Given the description of an element on the screen output the (x, y) to click on. 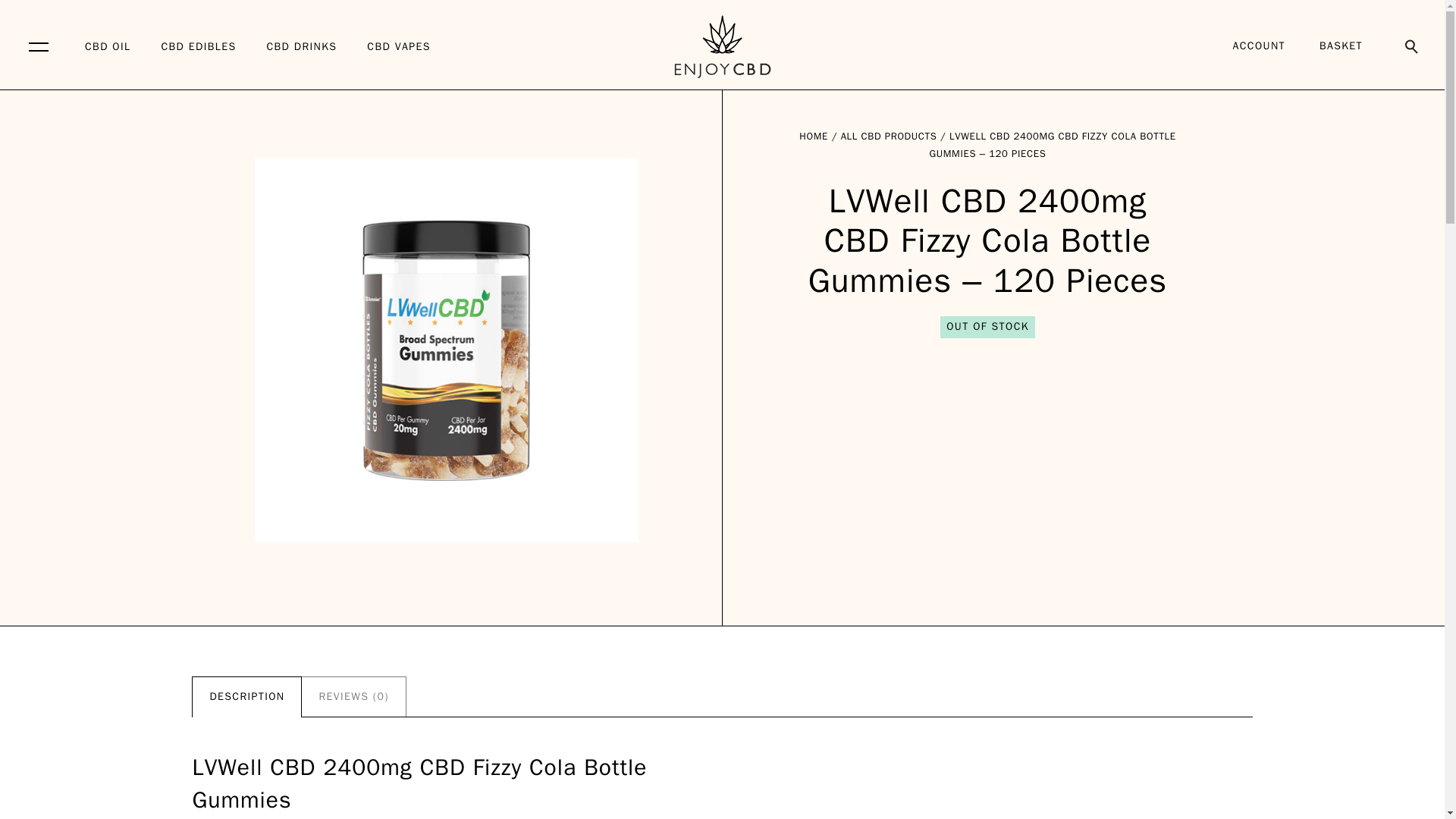
HOME (813, 135)
CBD EDIBLES (197, 47)
CBD VAPES (397, 47)
CBD DRINKS (301, 47)
ACCOUNT (1259, 46)
CBD OIL (107, 47)
BASKET (1343, 46)
